Given the description of an element on the screen output the (x, y) to click on. 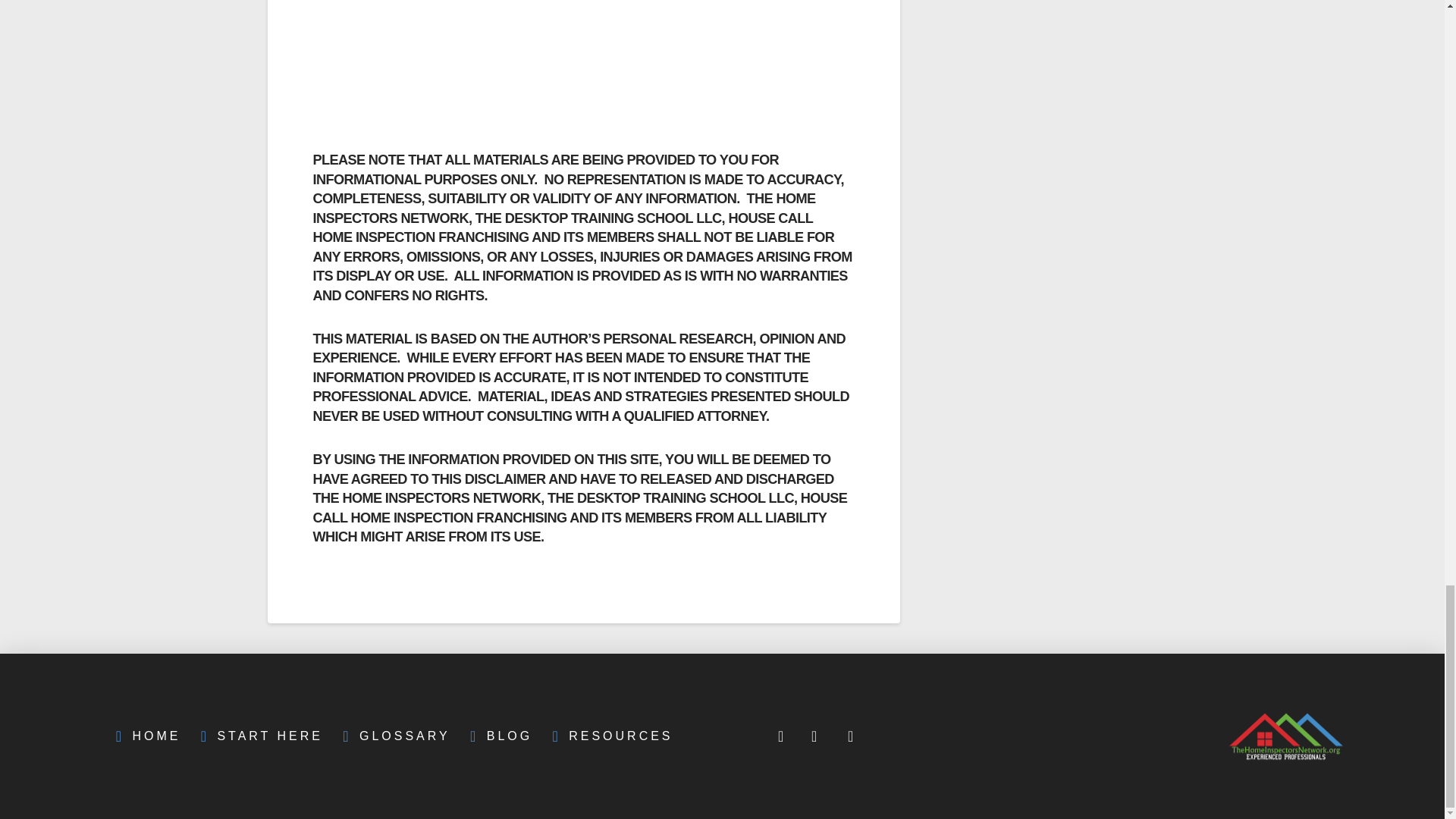
BLOG (497, 735)
RESOURCES (608, 735)
START HERE (257, 735)
GLOSSARY (393, 735)
HOME (143, 735)
